Given the description of an element on the screen output the (x, y) to click on. 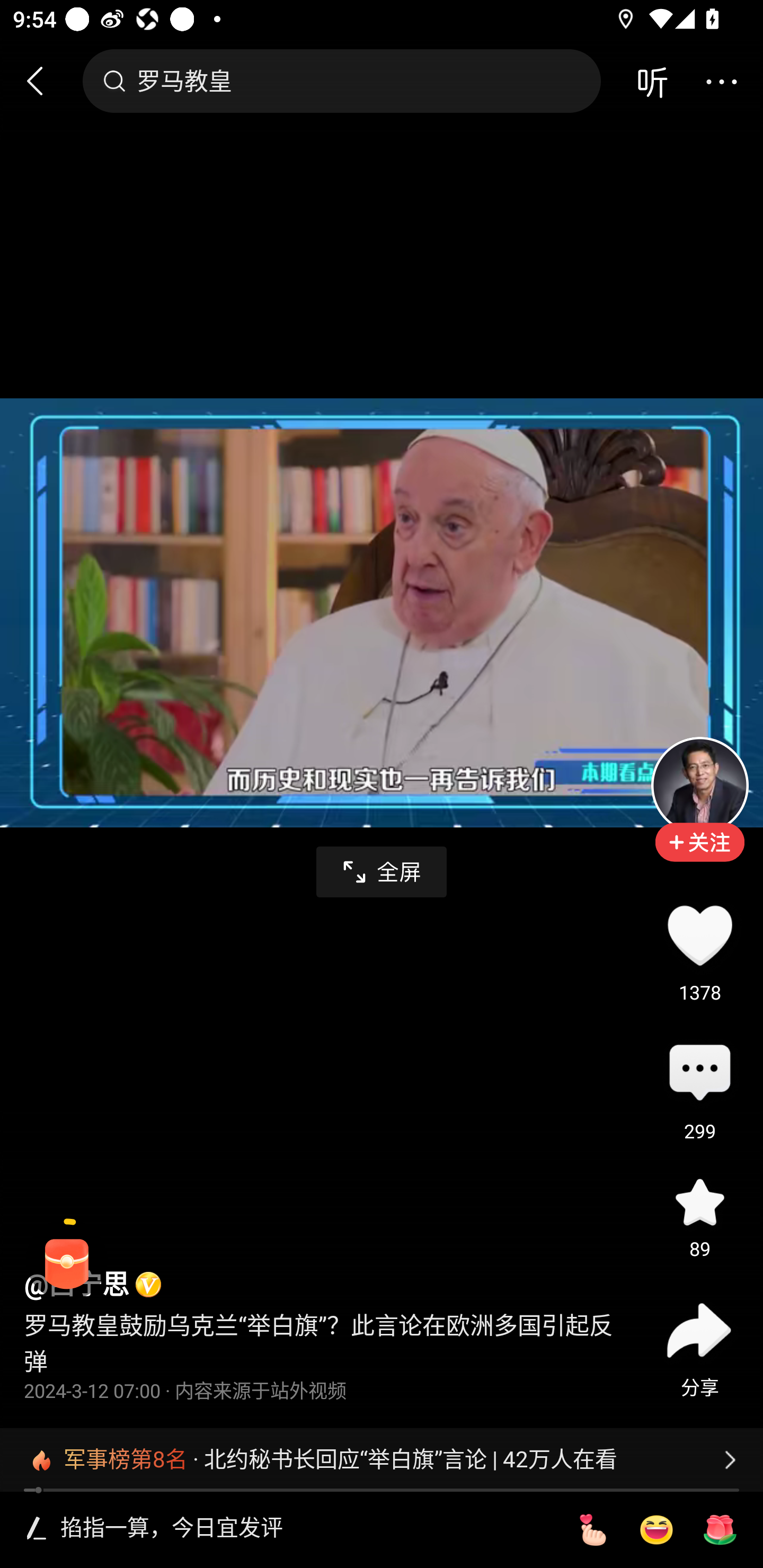
罗马教皇 搜索框，罗马教皇 (341, 80)
返回 (43, 80)
音频 (651, 80)
更多操作 (720, 80)
头像 (699, 785)
加关注 (699, 855)
全屏播放 (381, 871)
点赞1378 1378 (699, 935)
评论299 评论 299 (699, 1074)
收藏 89 (699, 1201)
阅读赚金币 (66, 1259)
分享 (699, 1330)
军事榜第8名  · 北约秘书长回应“举白旗”言论  | 42万人在看 (381, 1459)
掐指一算，今日宜发评 (305, 1529)
[比心] (592, 1530)
[大笑] (656, 1530)
[玫瑰] (719, 1530)
